Given the description of an element on the screen output the (x, y) to click on. 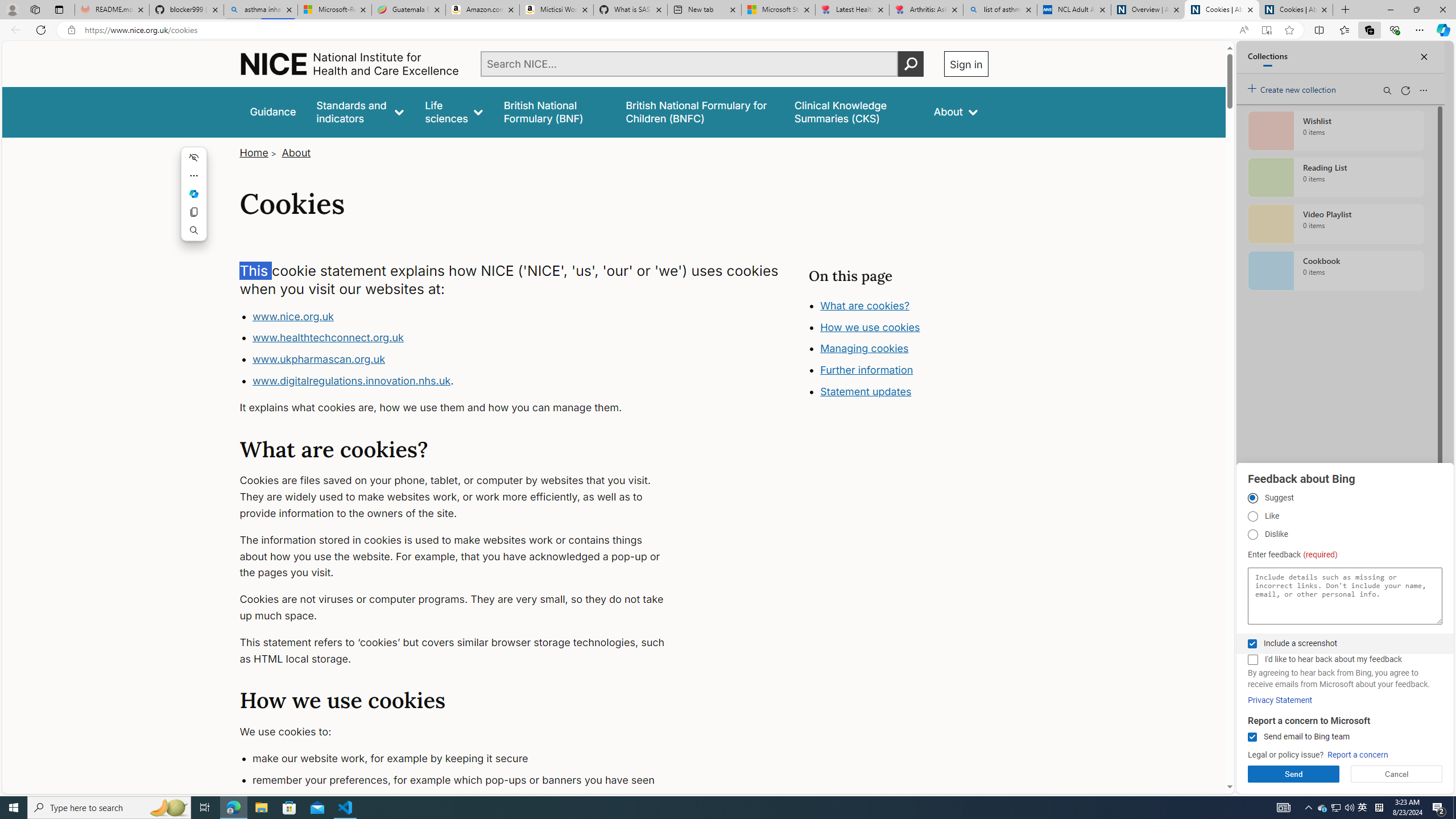
Cancel (1396, 773)
Send email to Bing team (1251, 737)
British National Formulary for Children (BNFC) (699, 111)
Like (1252, 516)
false (853, 111)
Enter Immersive Reader (F9) (1266, 29)
NCL Adult Asthma Inhaler Choice Guideline (1073, 9)
www.ukpharmascan.org.uk (318, 359)
Statement updates (865, 391)
www.healthtechconnect.org.uk (464, 338)
